Given the description of an element on the screen output the (x, y) to click on. 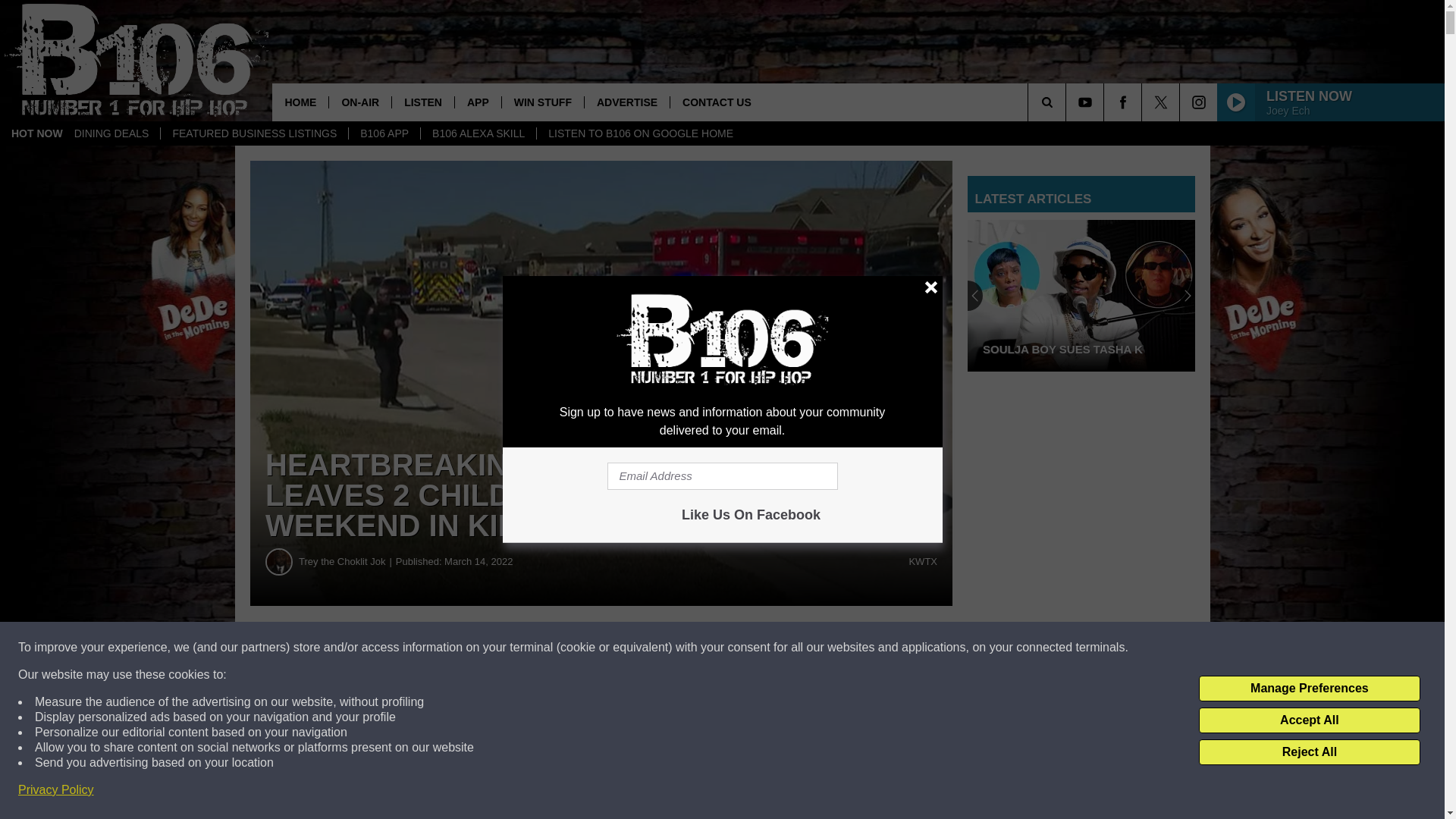
CONTACT US (715, 102)
Reject All (1309, 751)
Accept All (1309, 720)
B106 ALEXA SKILL (477, 133)
Share on Facebook (460, 647)
FEATURED BUSINESS LISTINGS (253, 133)
SEARCH (1068, 102)
HOME (300, 102)
SEARCH (1068, 102)
B106 APP (383, 133)
LISTEN (422, 102)
Privacy Policy (55, 789)
Email Address (722, 475)
ADVERTISE (626, 102)
Manage Preferences (1309, 688)
